Given the description of an element on the screen output the (x, y) to click on. 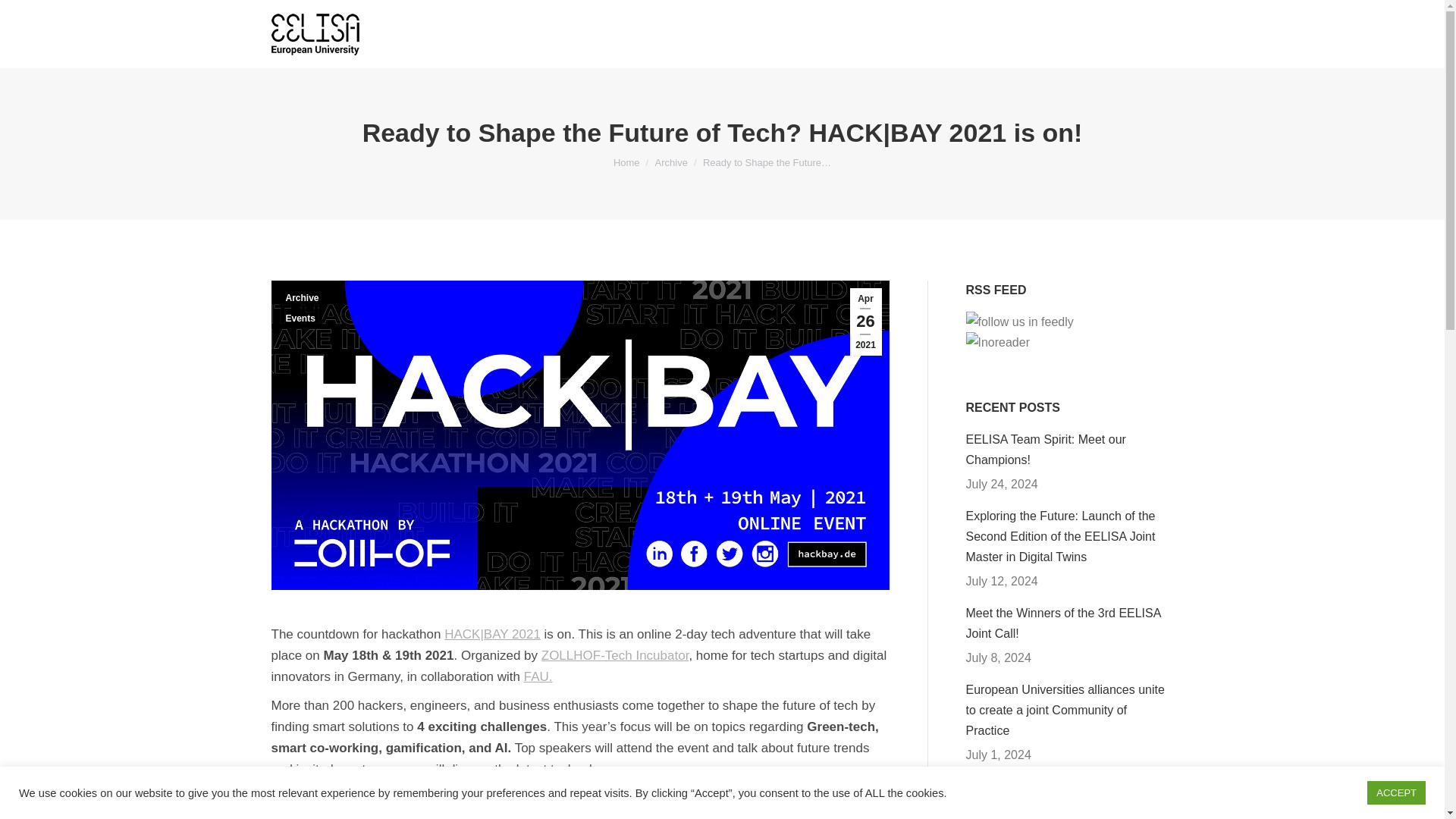
Career Opportunities (1064, 33)
Home (626, 162)
Education (568, 33)
10:53 am (864, 321)
Communities (823, 33)
About (498, 33)
Archive (671, 162)
